Given the description of an element on the screen output the (x, y) to click on. 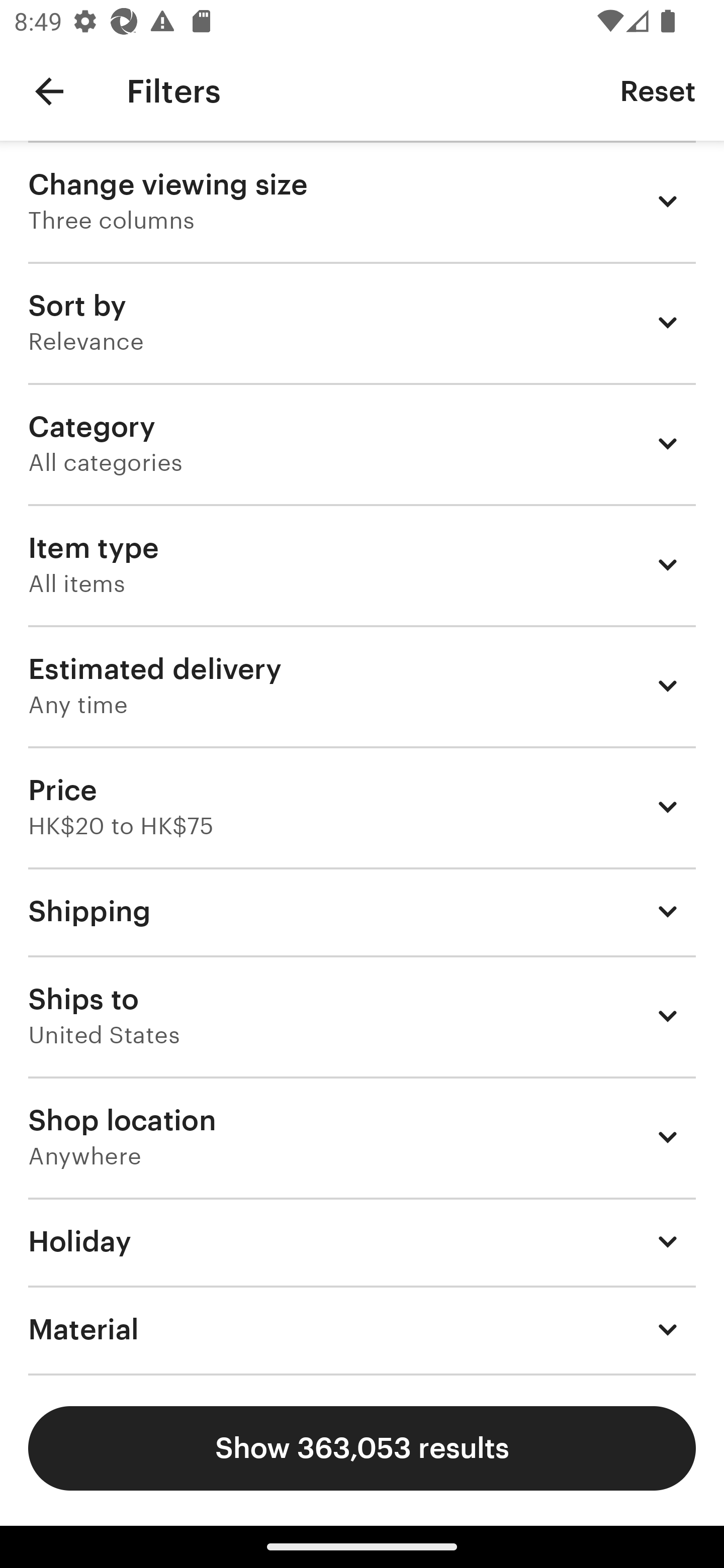
Navigate up (49, 91)
Reset (657, 90)
Change viewing size Three columns (362, 201)
Sort by Relevance (362, 321)
Category All categories (362, 442)
Item type All items (362, 564)
Estimated delivery Any time (362, 685)
Price HK$20 to HK$75 (362, 806)
Shipping (362, 910)
Ships to United States (362, 1015)
Shop location Anywhere (362, 1137)
Holiday (362, 1241)
Material (362, 1329)
Show 363,053 results Show results (361, 1448)
